Given the description of an element on the screen output the (x, y) to click on. 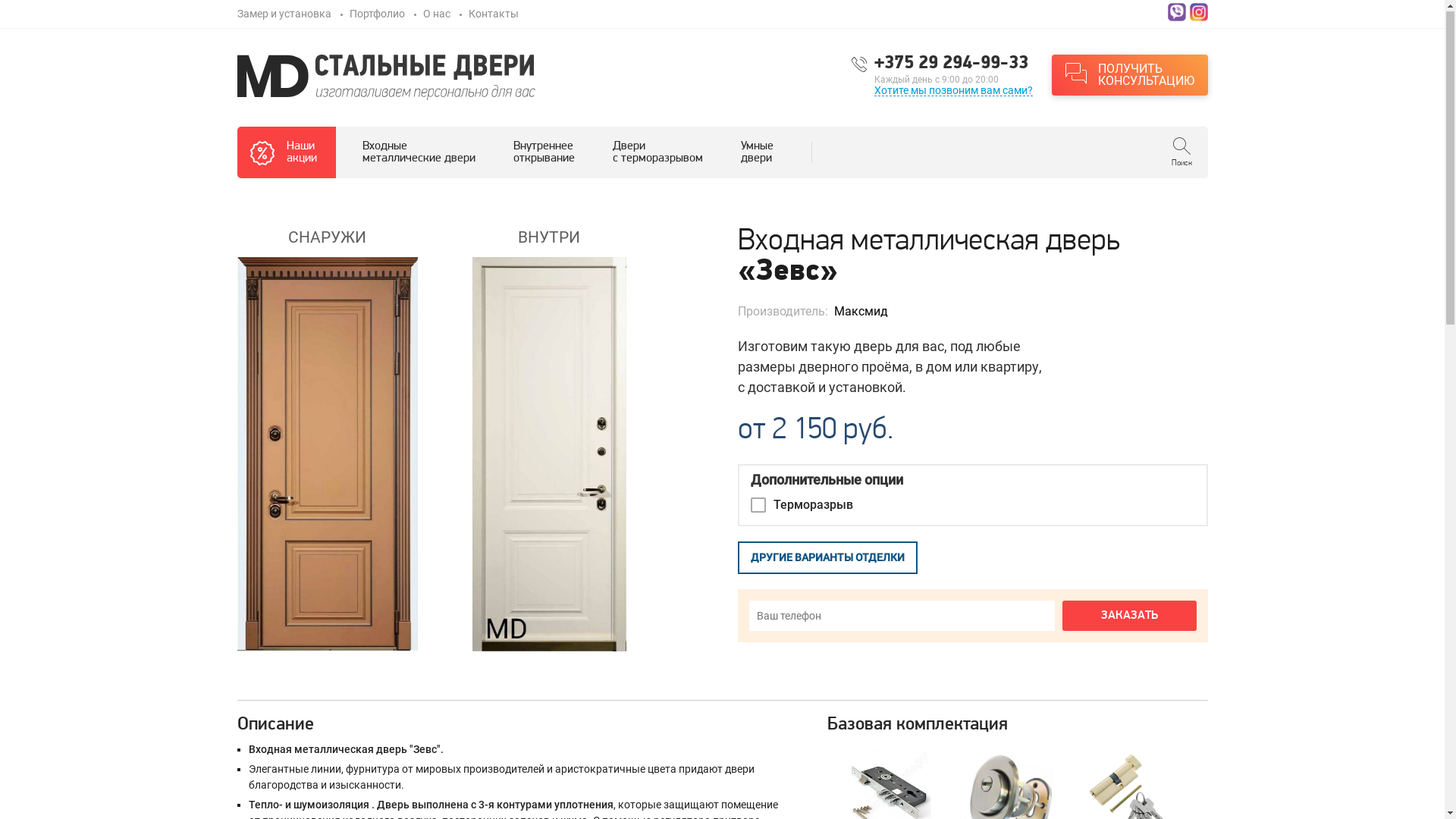
+375 29 294-99-33 Element type: text (952, 64)
